Given the description of an element on the screen output the (x, y) to click on. 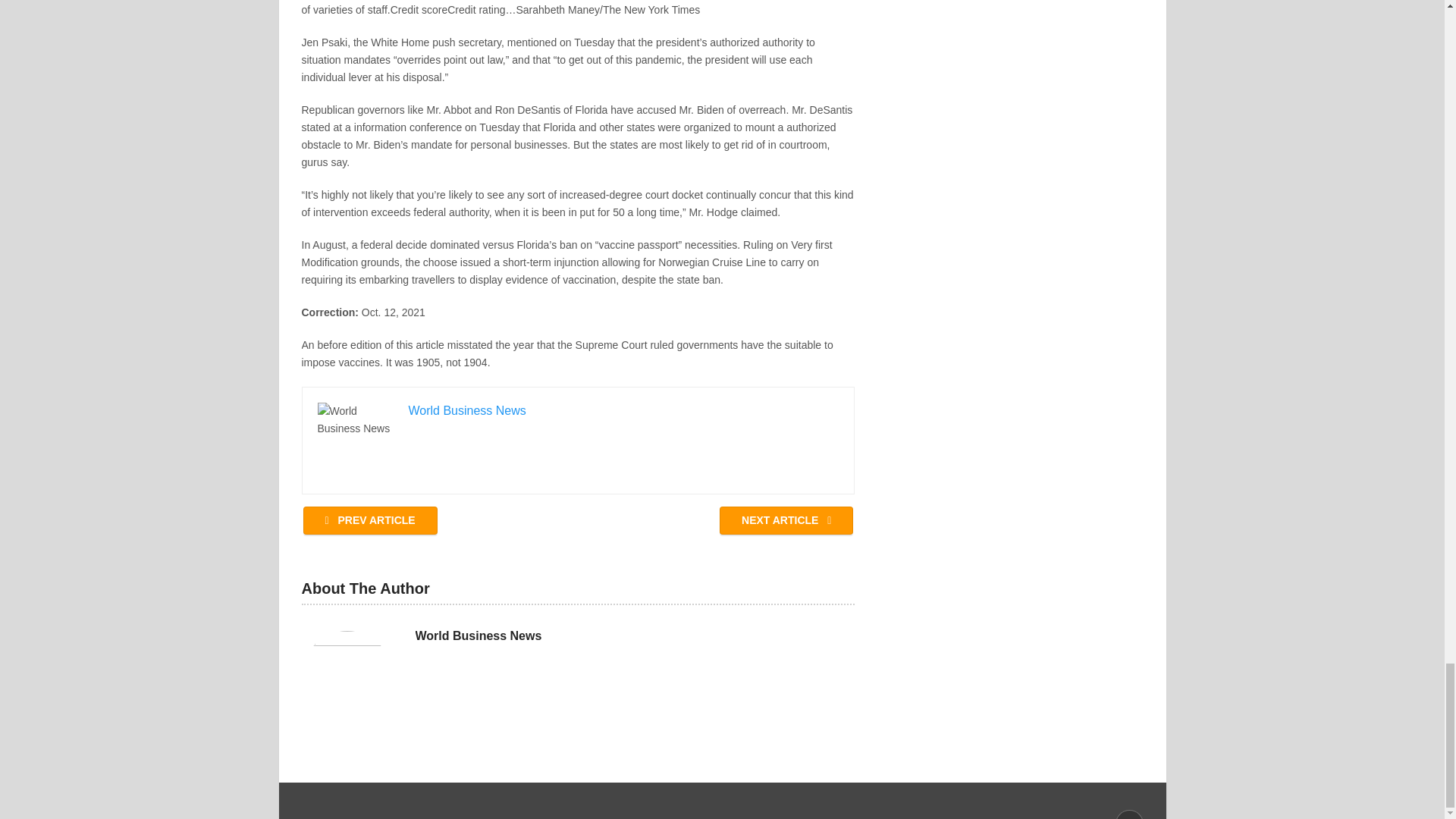
World Business News (477, 636)
PREV ARTICLE (370, 520)
NEXT ARTICLE (786, 520)
